Given the description of an element on the screen output the (x, y) to click on. 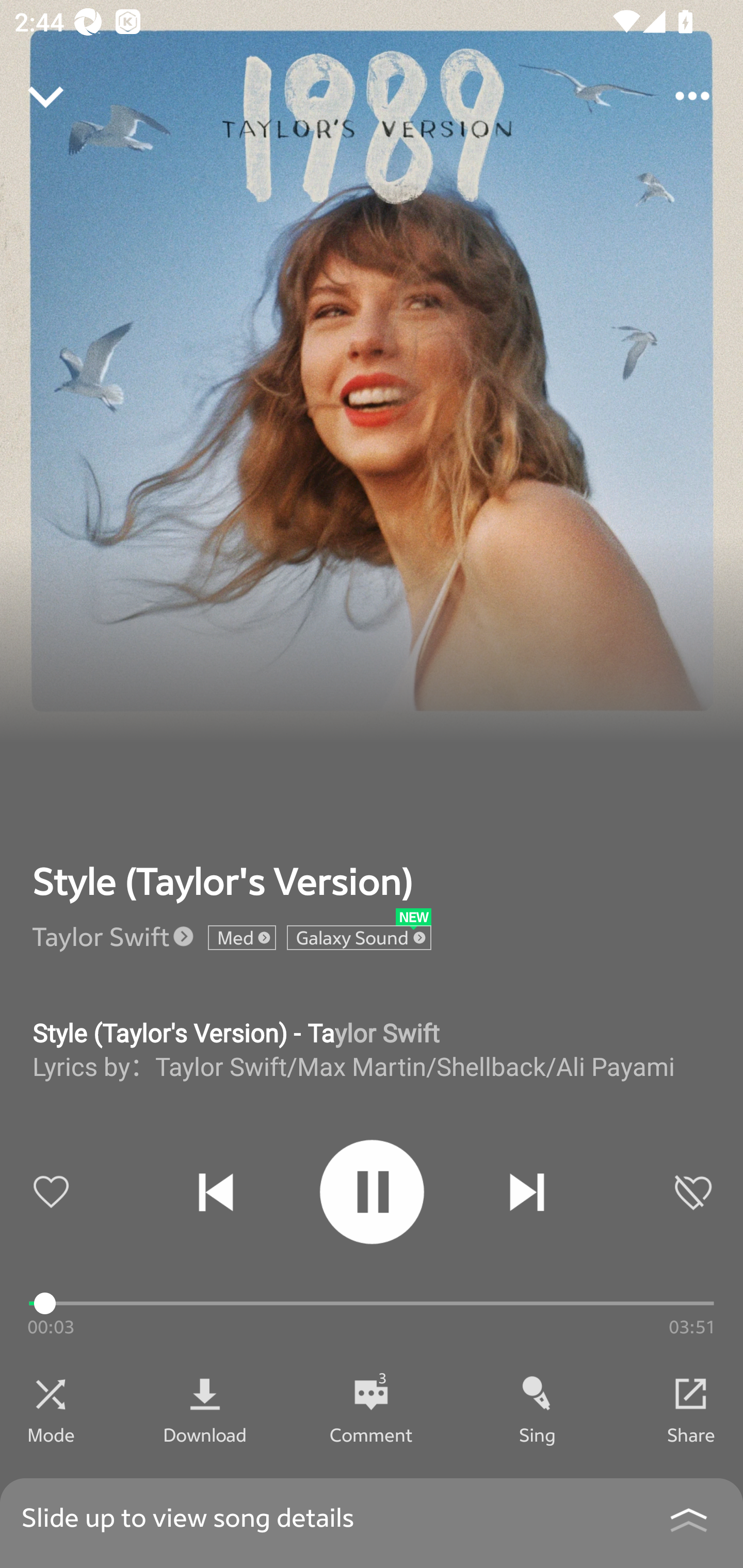
Style (Taylor's Version) (222, 881)
Taylor Swift (100, 935)
Med (242, 937)
Galaxy Sound (358, 937)
3 (371, 1393)
Mode (51, 1434)
Download (204, 1434)
Comment (370, 1434)
Sing (537, 1434)
Share (691, 1434)
Slide up to view song details (371, 1523)
